Given the description of an element on the screen output the (x, y) to click on. 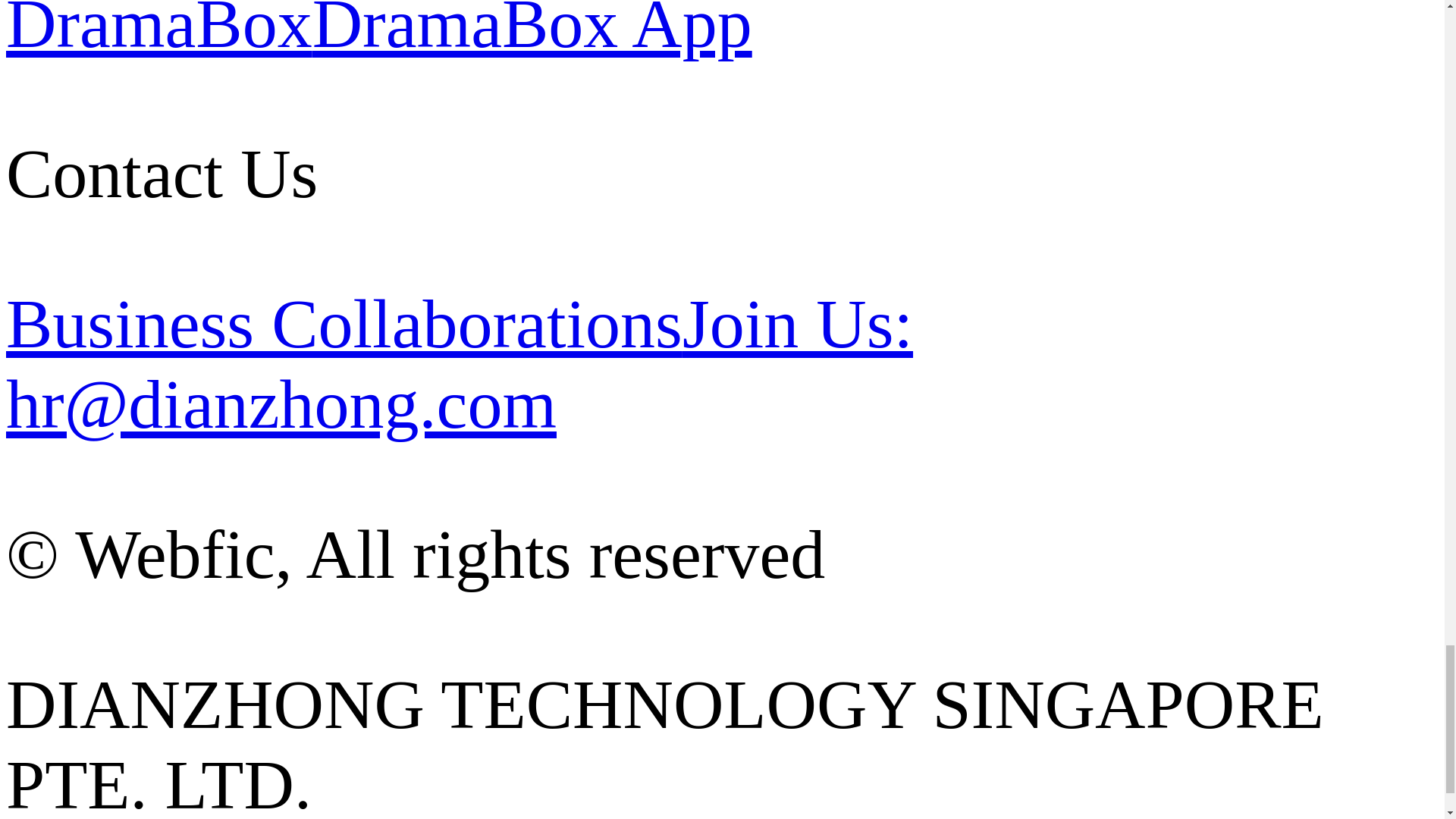
DramaBox App (532, 31)
DramaBox (159, 31)
Business Collaborations (343, 323)
